Given the description of an element on the screen output the (x, y) to click on. 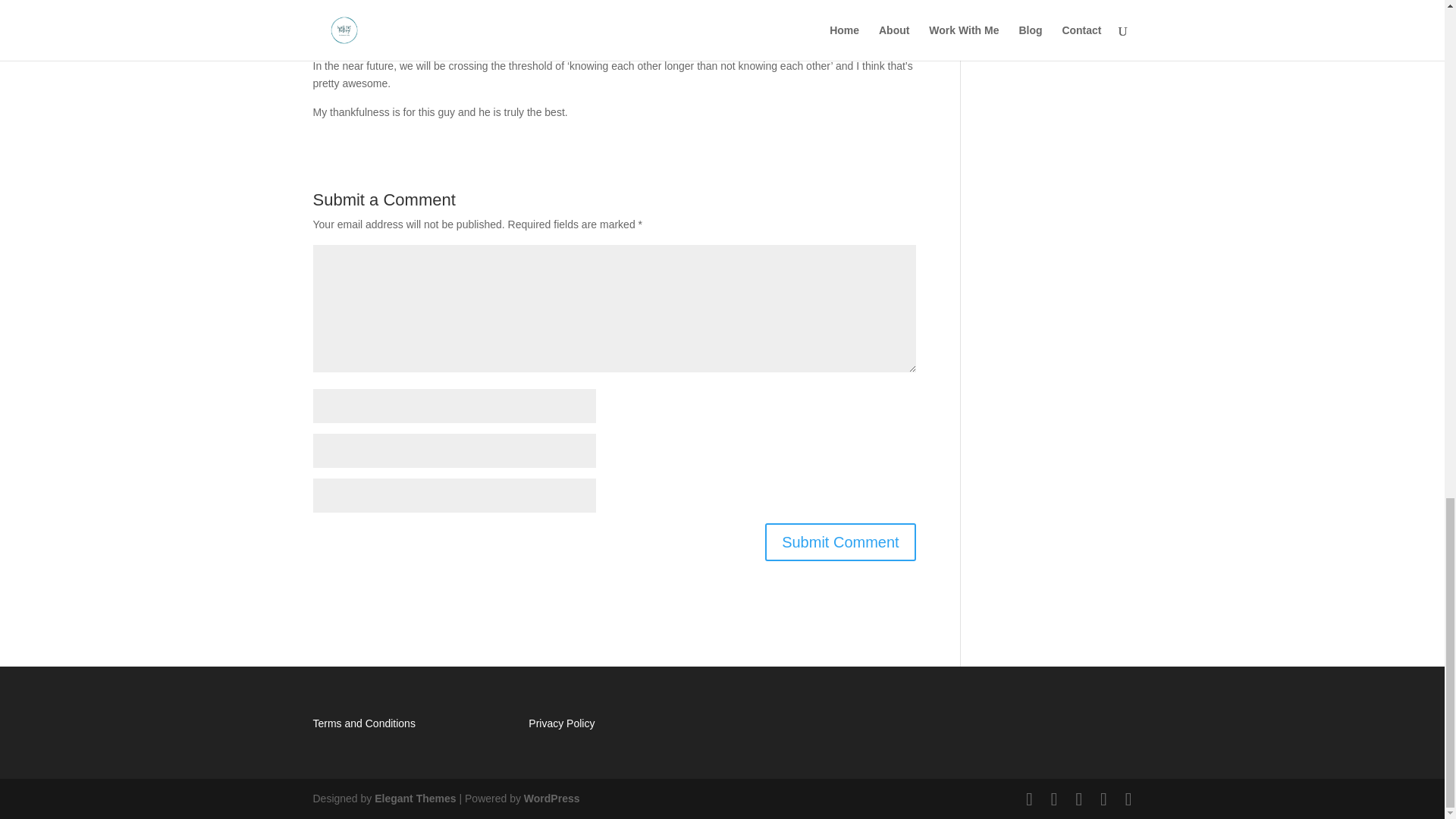
Elegant Themes (414, 798)
Submit Comment (840, 542)
Premium WordPress Themes (414, 798)
Terms and Conditions (363, 723)
Submit Comment (840, 542)
WordPress (551, 798)
Privacy Policy (561, 723)
